Given the description of an element on the screen output the (x, y) to click on. 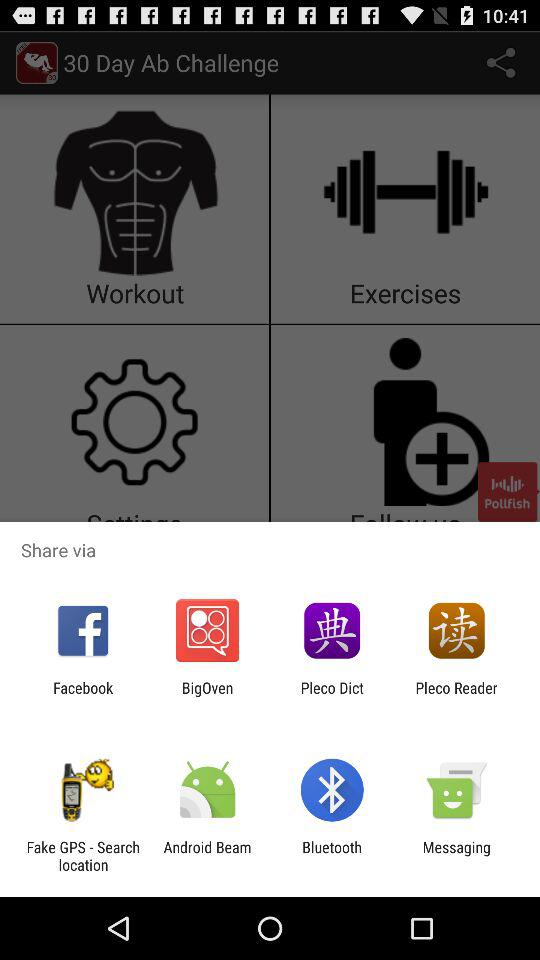
tap icon to the left of the pleco dict item (207, 696)
